Given the description of an element on the screen output the (x, y) to click on. 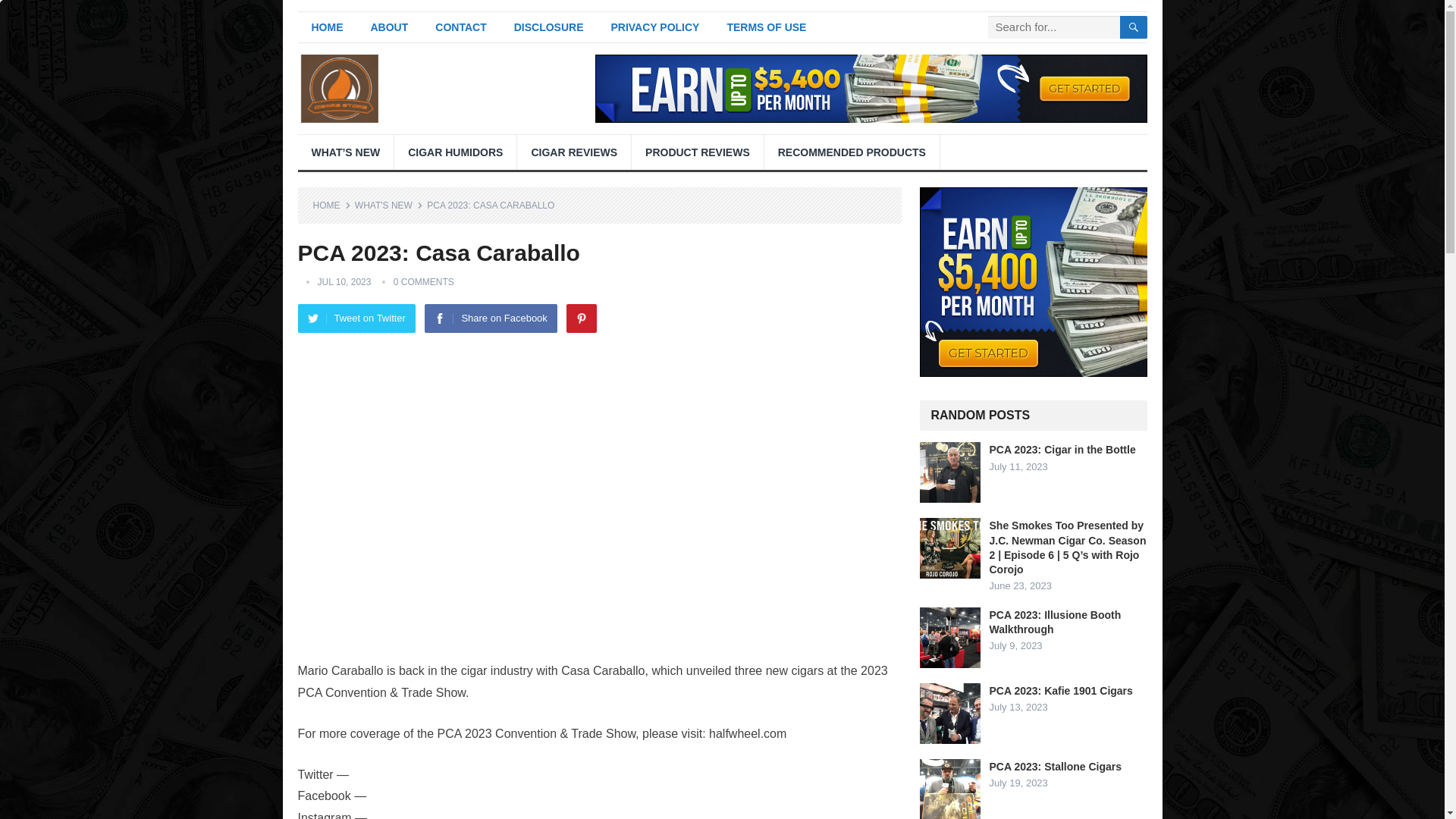
PRIVACY POLICY (654, 27)
0 COMMENTS (423, 281)
DISCLOSURE (548, 27)
Tweet on Twitter (355, 317)
Share on Facebook (490, 317)
RECOMMENDED PRODUCTS (851, 152)
CIGAR REVIEWS (573, 152)
CONTACT (460, 27)
HOME (331, 204)
